Given the description of an element on the screen output the (x, y) to click on. 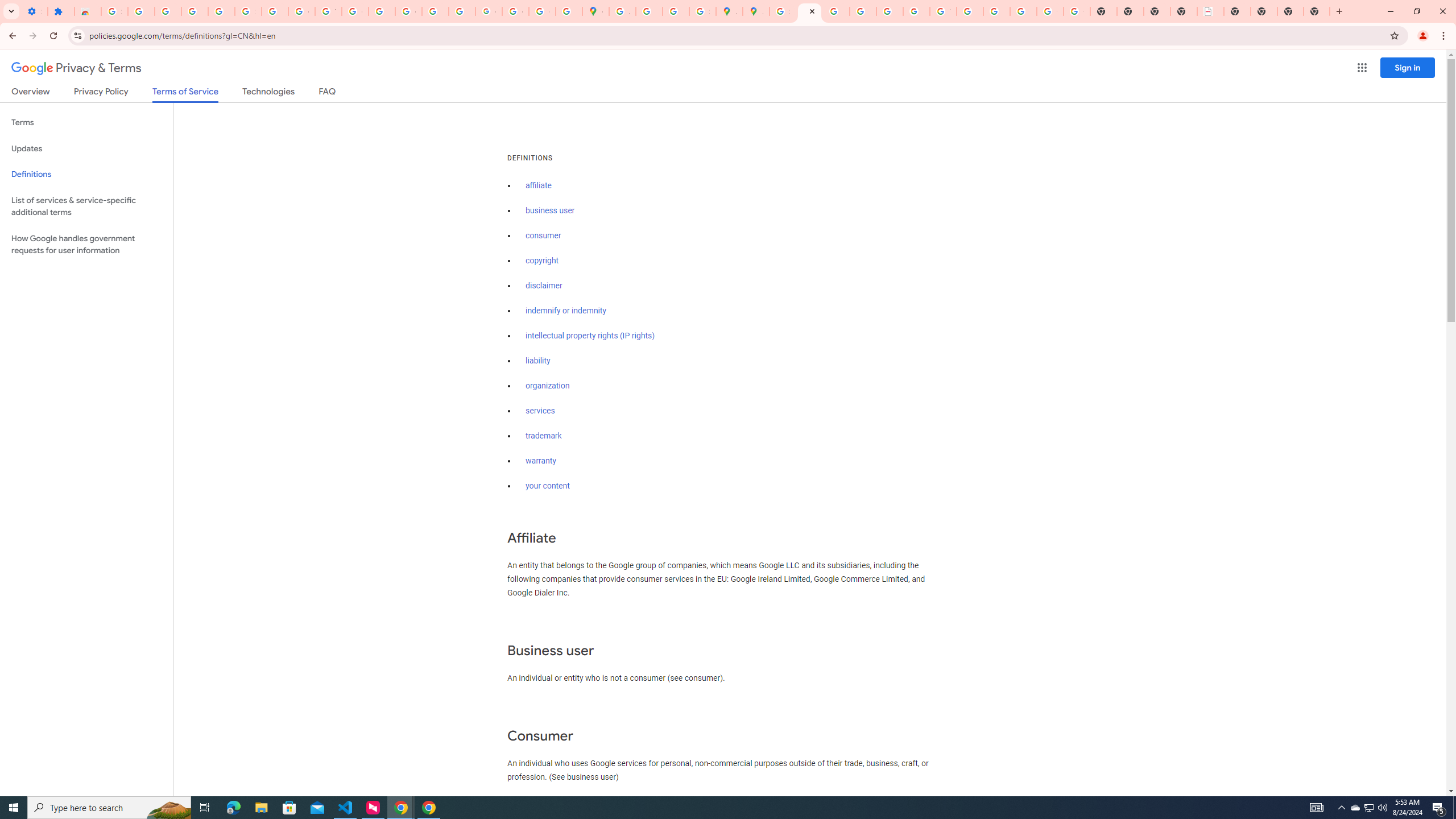
New Tab (1236, 11)
Settings - On startup (34, 11)
LAAD Defence & Security 2025 | BAE Systems (1210, 11)
Privacy Help Center - Policies Help (836, 11)
Sign in - Google Accounts (248, 11)
